Given the description of an element on the screen output the (x, y) to click on. 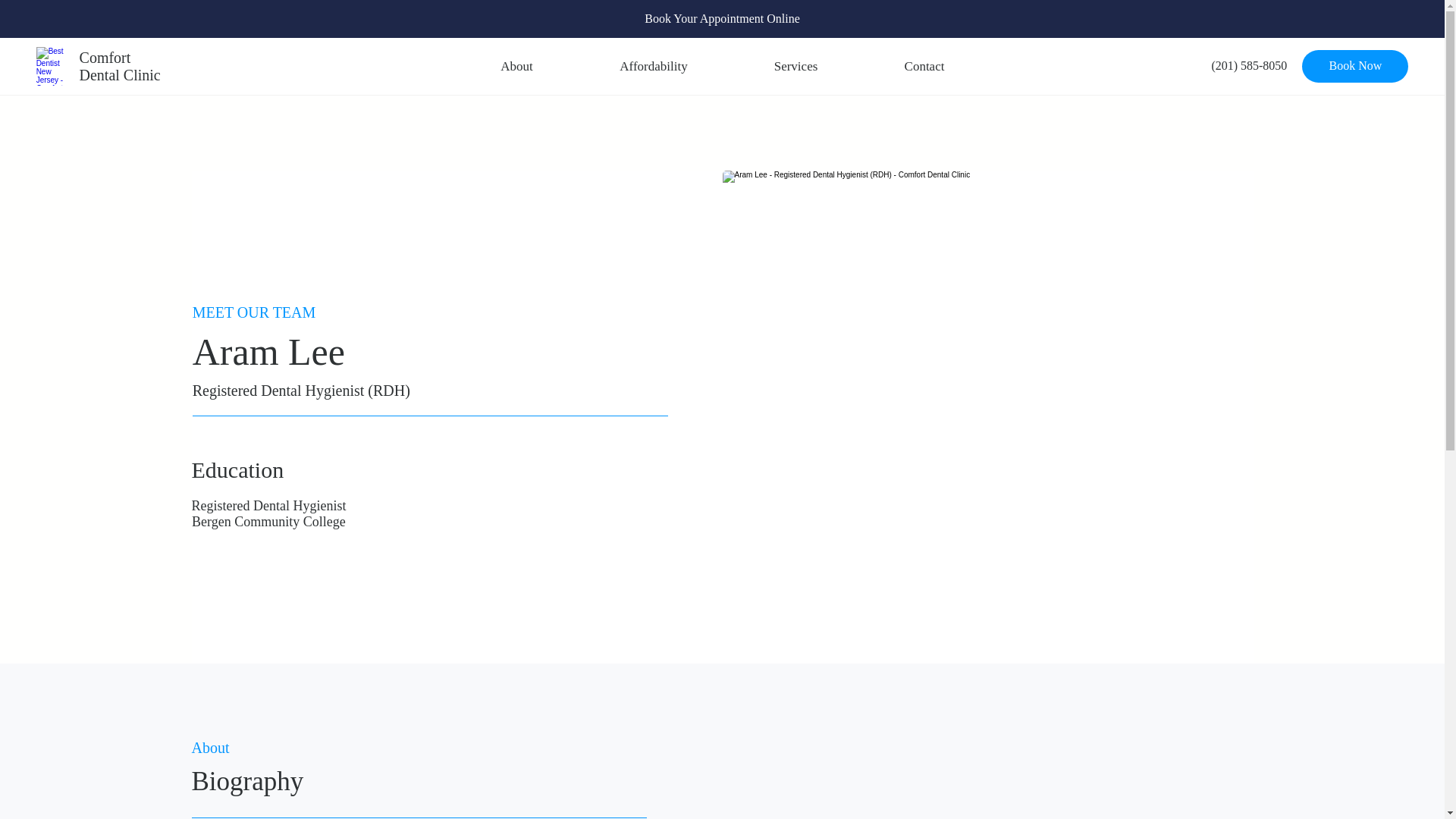
Contact (924, 66)
Comfort (105, 56)
Book Now (1354, 65)
Dental Clinic (120, 74)
About (516, 66)
